Given the description of an element on the screen output the (x, y) to click on. 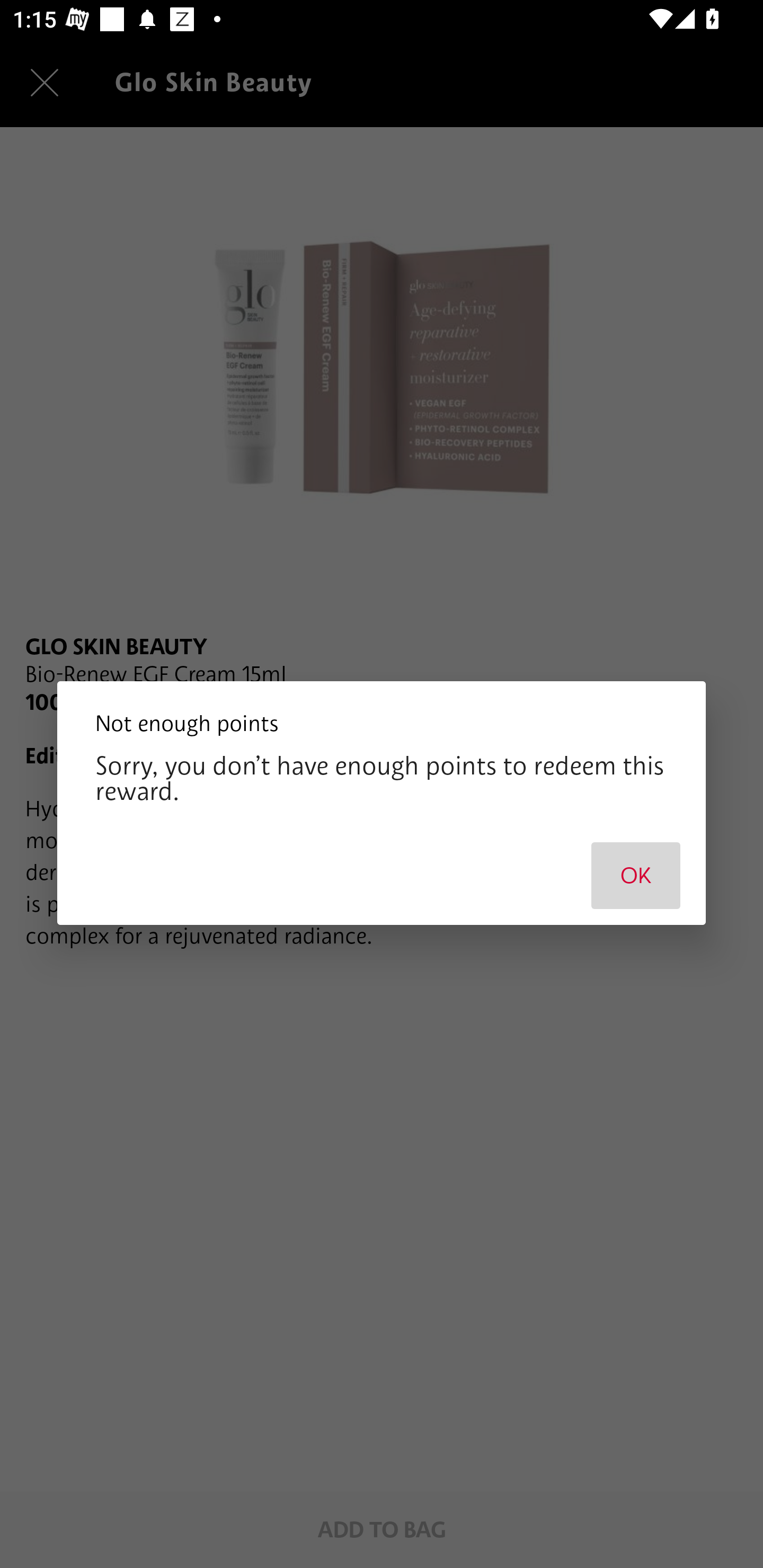
OK (635, 875)
